Given the description of an element on the screen output the (x, y) to click on. 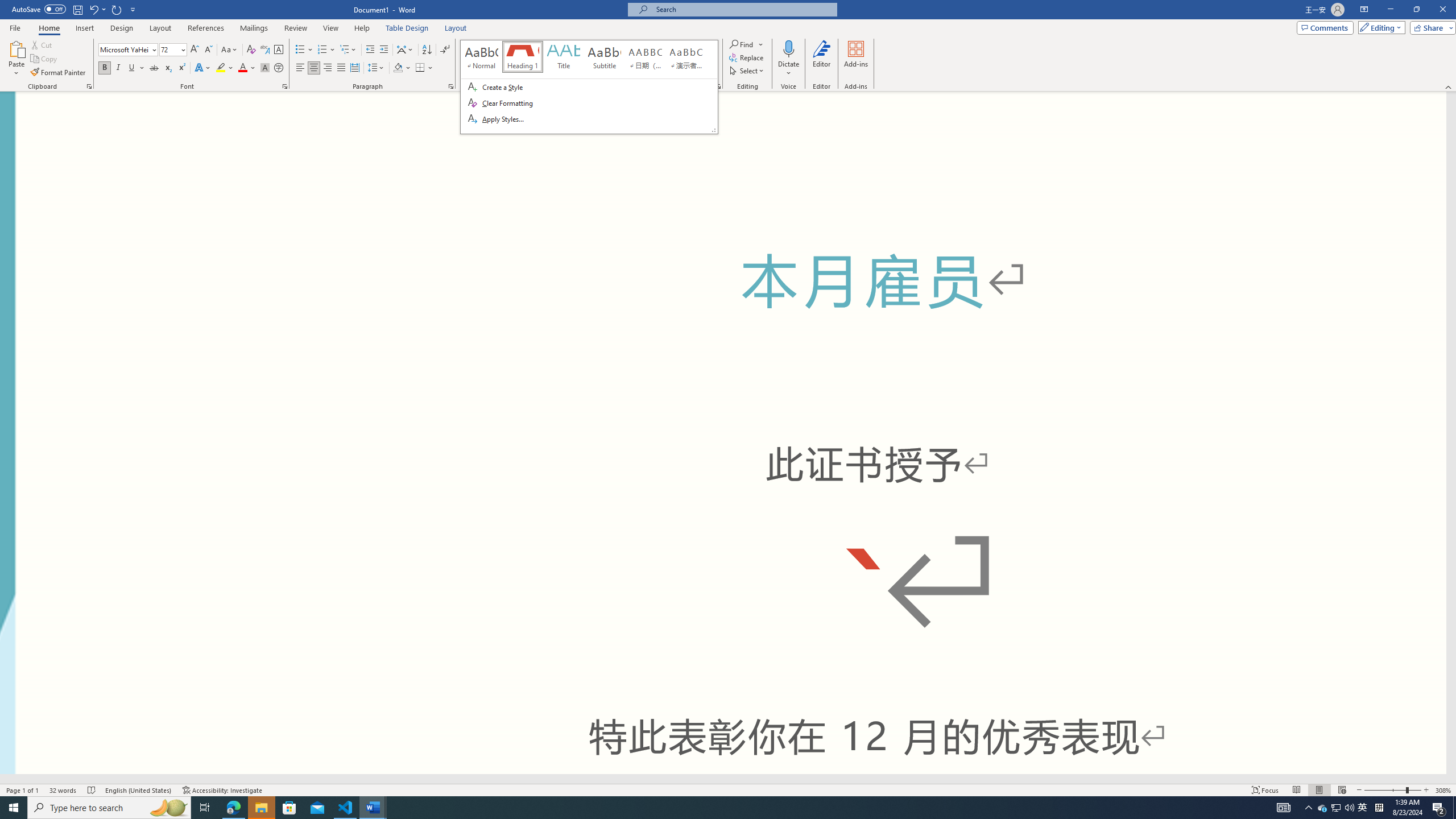
Shading RGB(0, 0, 0) (397, 67)
Class: Net UI Tool Window (588, 87)
Search highlights icon opens search home window (167, 807)
Shrink Font (208, 49)
Accessibility Checker Accessibility: Investigate (222, 790)
Replace... (747, 56)
Align Right (327, 67)
Asian Layout (405, 49)
Font... (285, 85)
Change Case (229, 49)
Undo Grow Font (96, 9)
Increase Indent (383, 49)
